Given the description of an element on the screen output the (x, y) to click on. 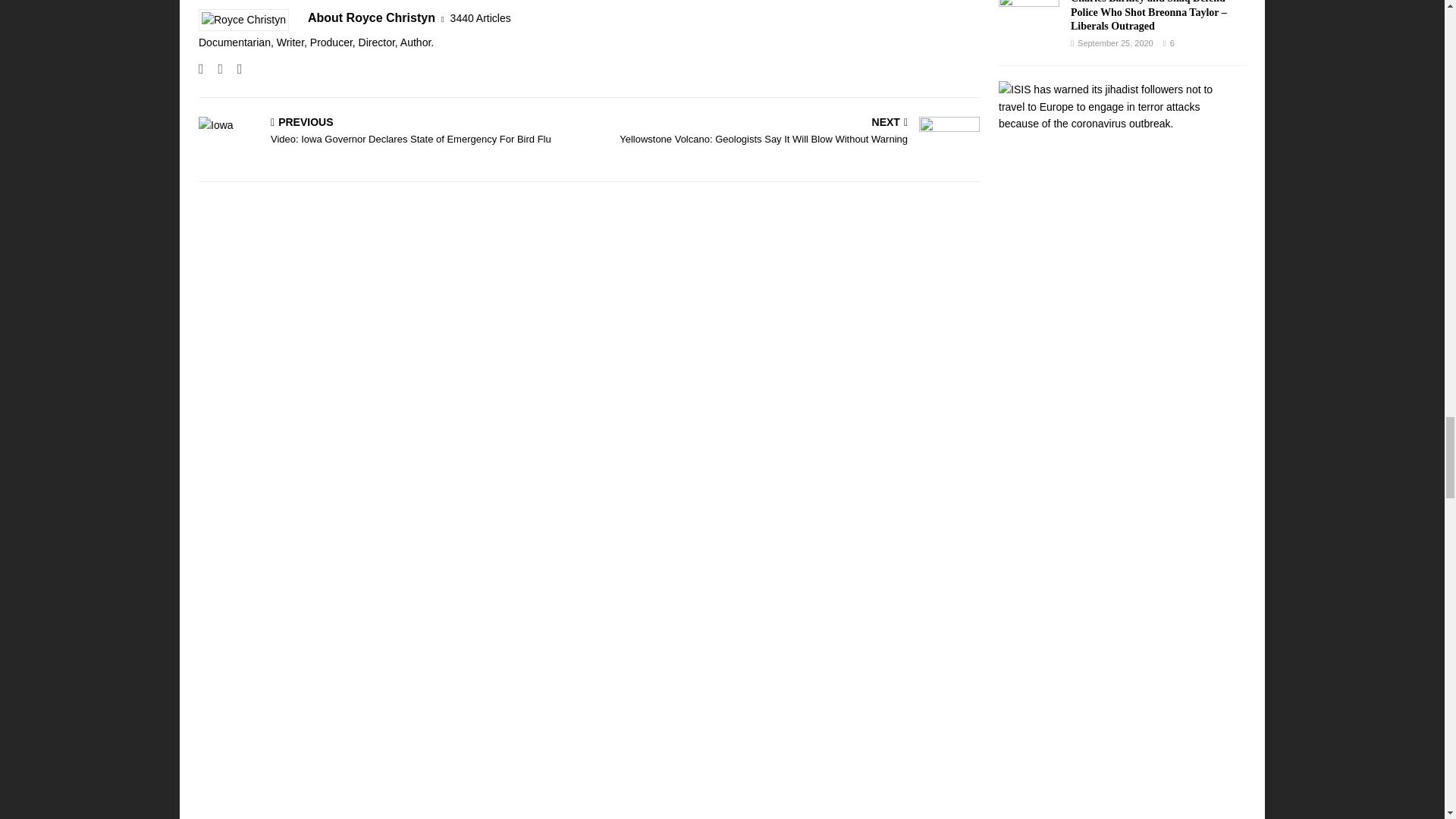
Follow Royce Christyn on Twitter (234, 69)
Follow Royce Christyn on Instagram (214, 69)
More articles written by Royce Christyn' (480, 18)
